Given the description of an element on the screen output the (x, y) to click on. 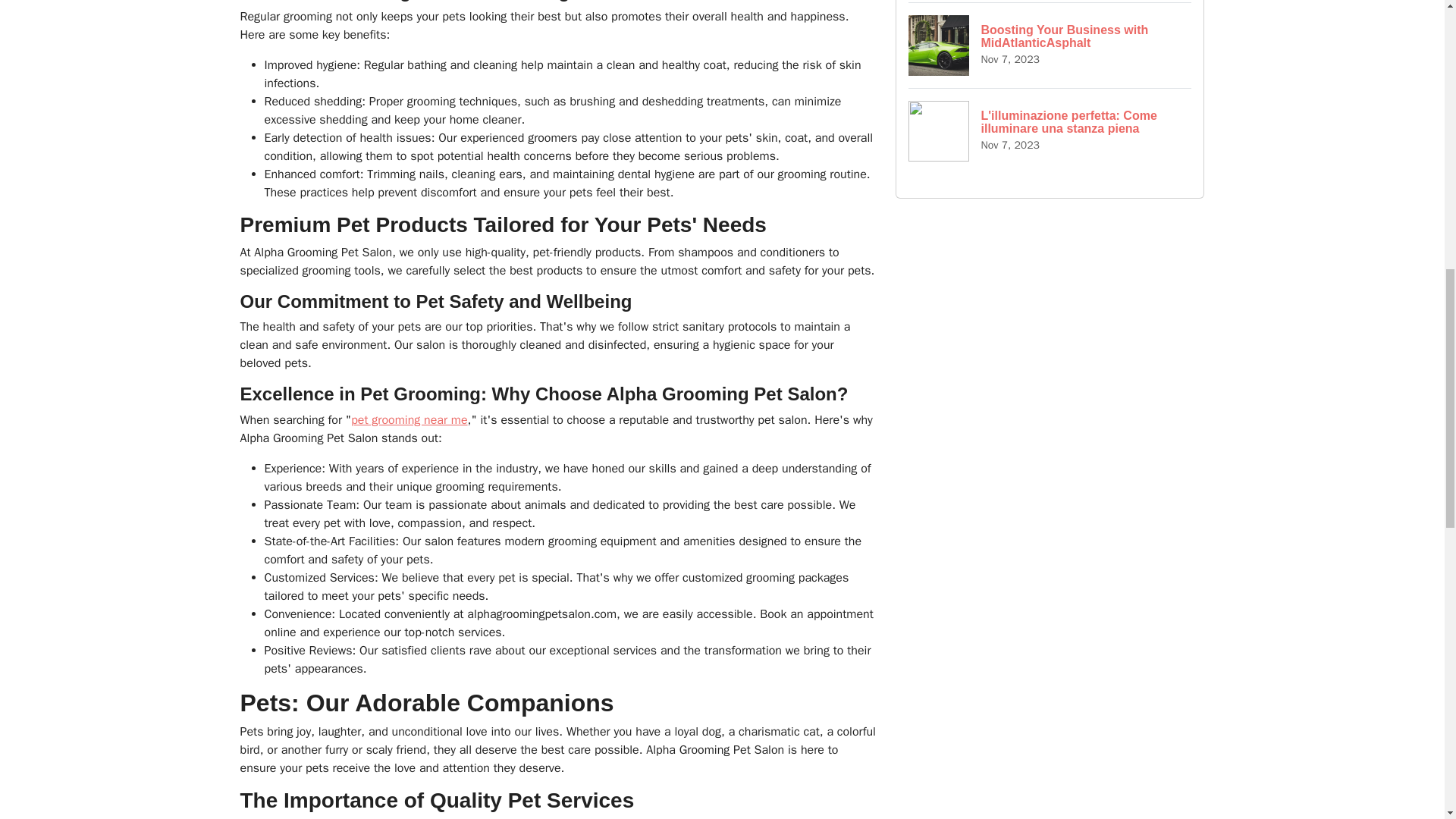
pet grooming near me (1050, 44)
